Given the description of an element on the screen output the (x, y) to click on. 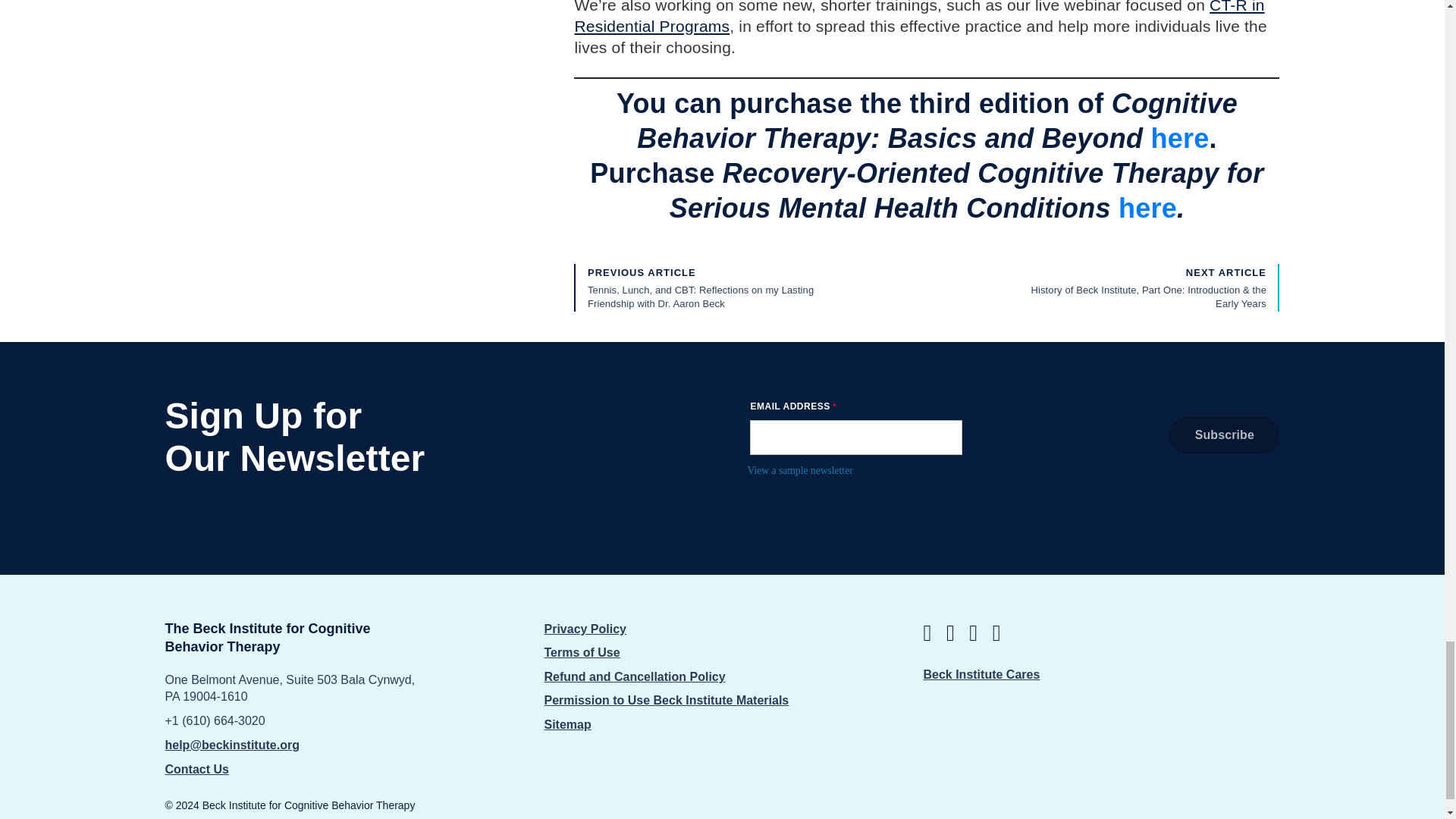
Subscribe (1224, 434)
Email Address (855, 437)
